Given the description of an element on the screen output the (x, y) to click on. 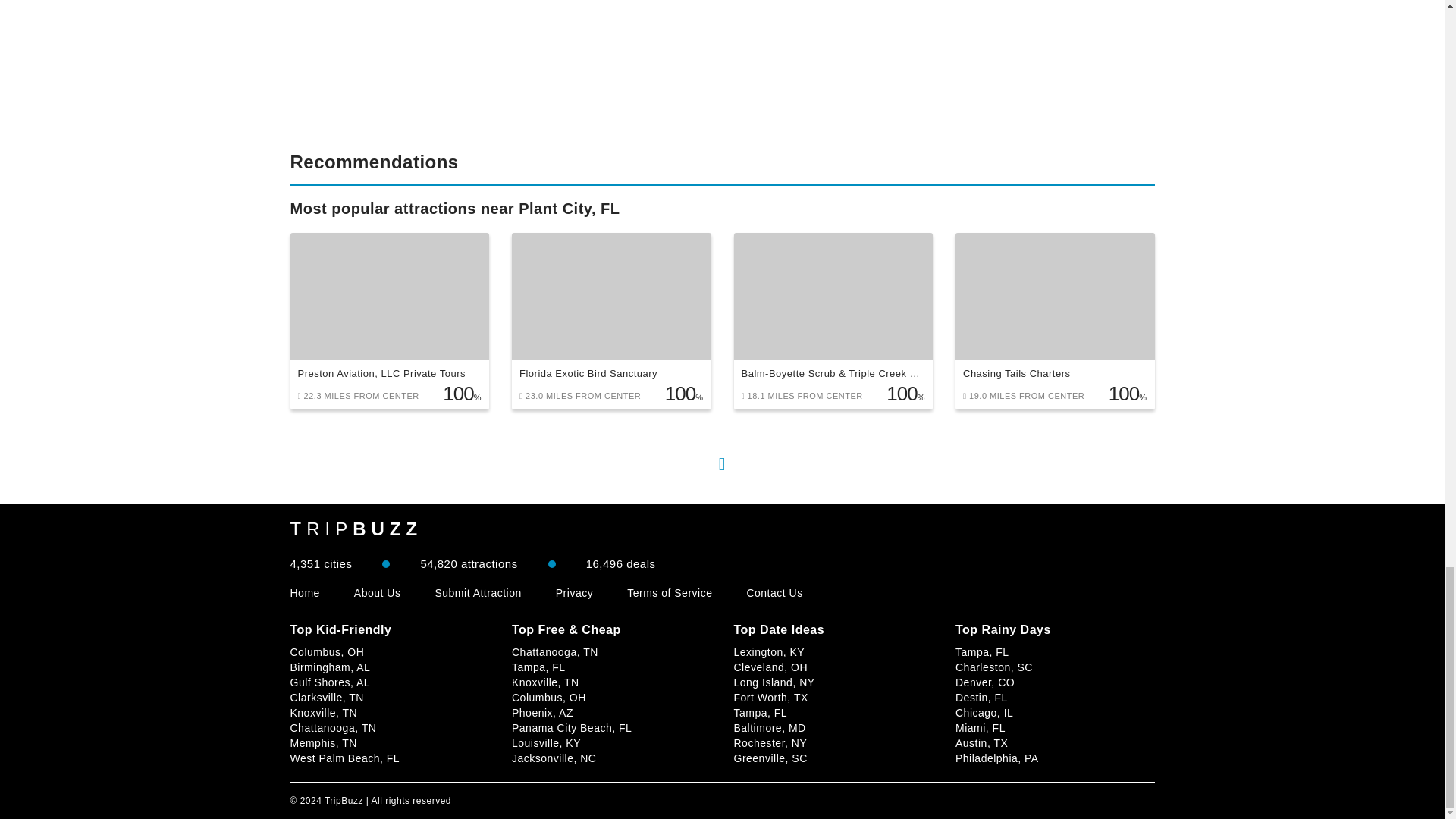
TRIPBUZZ (355, 529)
Home (303, 592)
Terms of Service (669, 592)
Submit Attraction (477, 592)
Privacy (574, 592)
About Us (377, 592)
Birmingham, AL (329, 666)
Terms of Service (669, 592)
Contact Us (773, 592)
Columbus, OH (326, 652)
About (377, 592)
Privacy (574, 592)
